Given the description of an element on the screen output the (x, y) to click on. 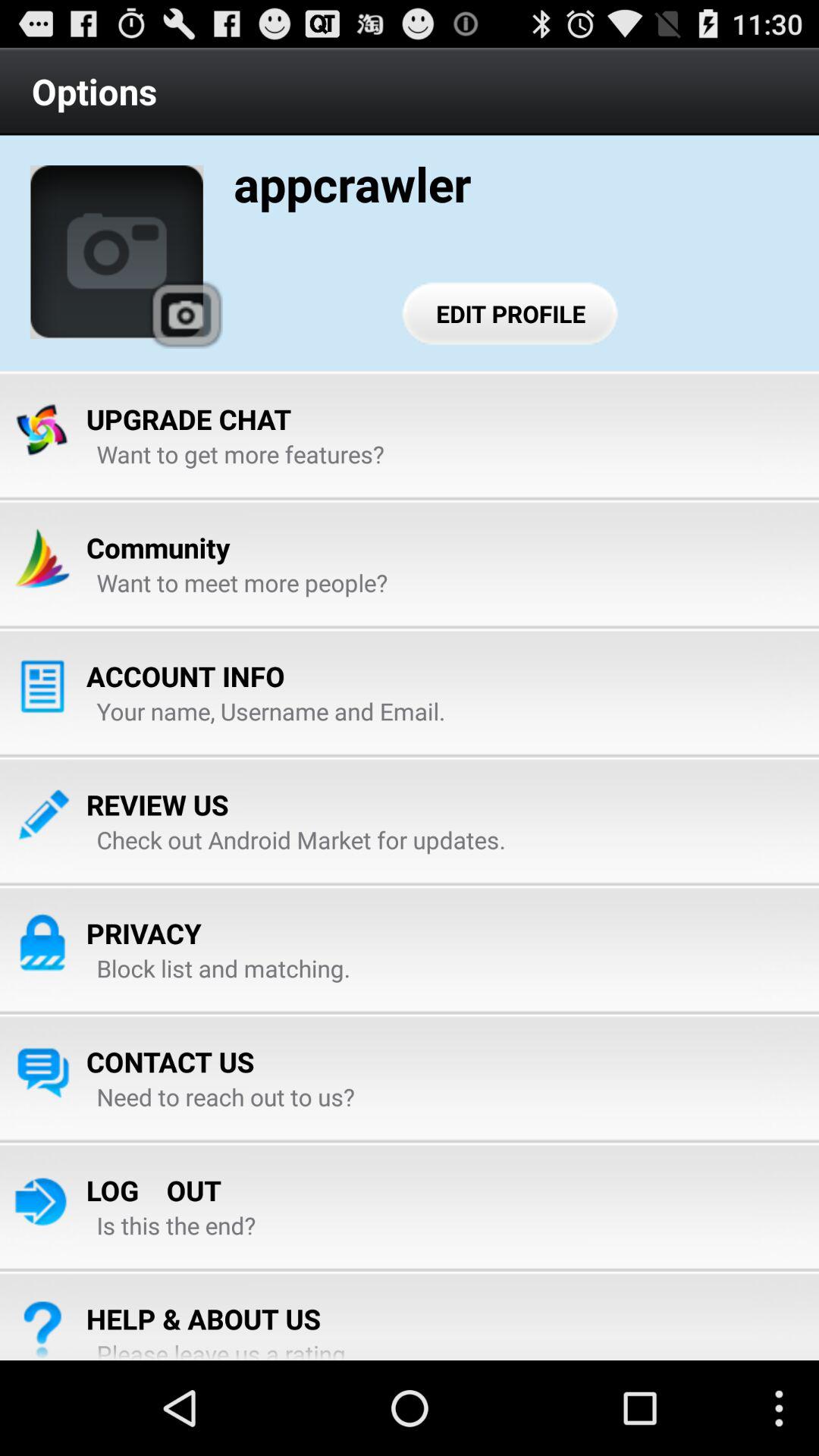
choose the item below appcrawler app (510, 313)
